Given the description of an element on the screen output the (x, y) to click on. 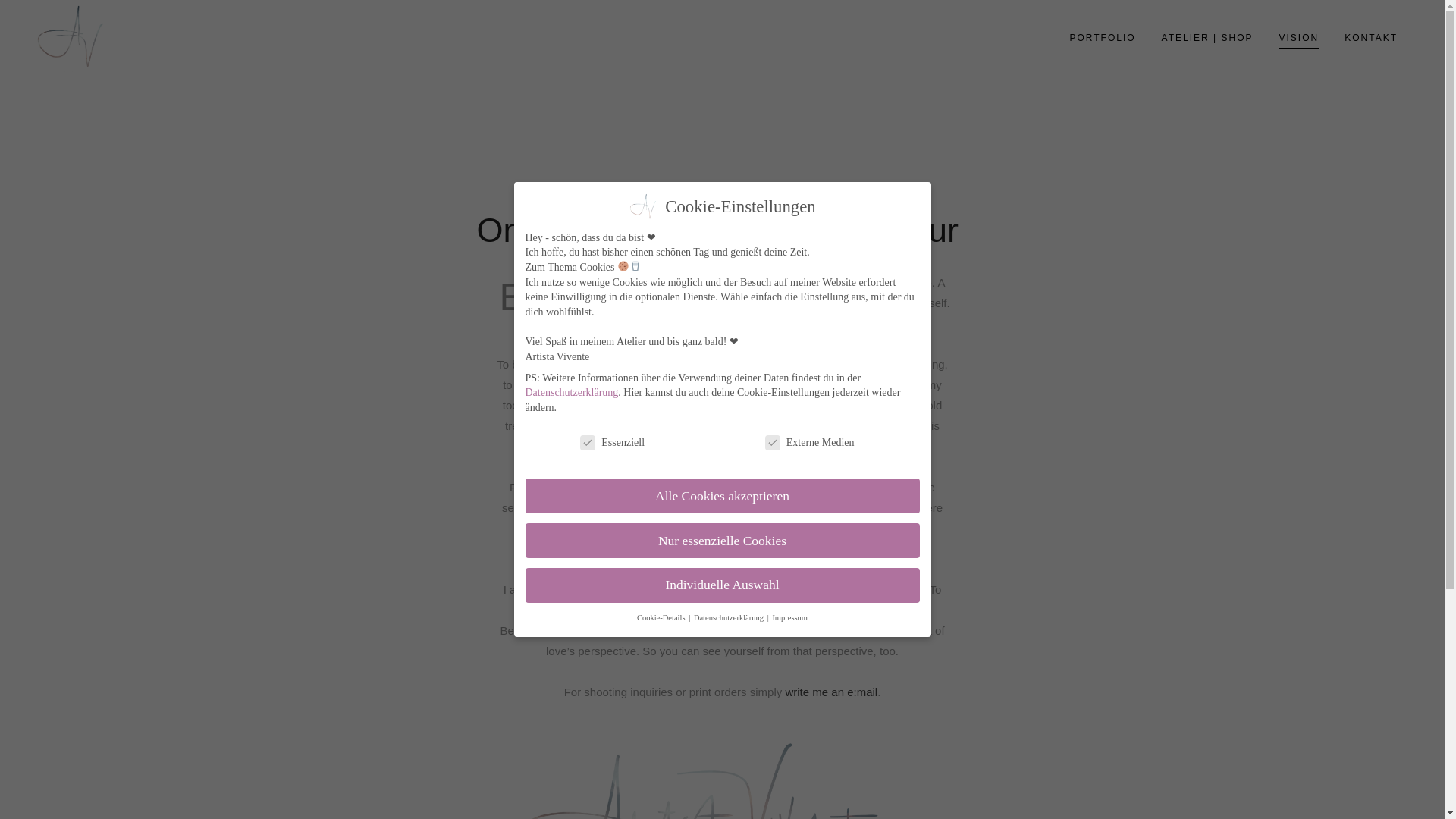
Cookie-Details (662, 616)
PORTFOLIO (1102, 38)
Alle Cookies akzeptieren (721, 489)
Impressum (789, 617)
Individuelle Auswahl (721, 582)
Nur essenzielle Cookies (721, 535)
write me an e:mail (830, 691)
KONTAKT (1371, 38)
